Given the description of an element on the screen output the (x, y) to click on. 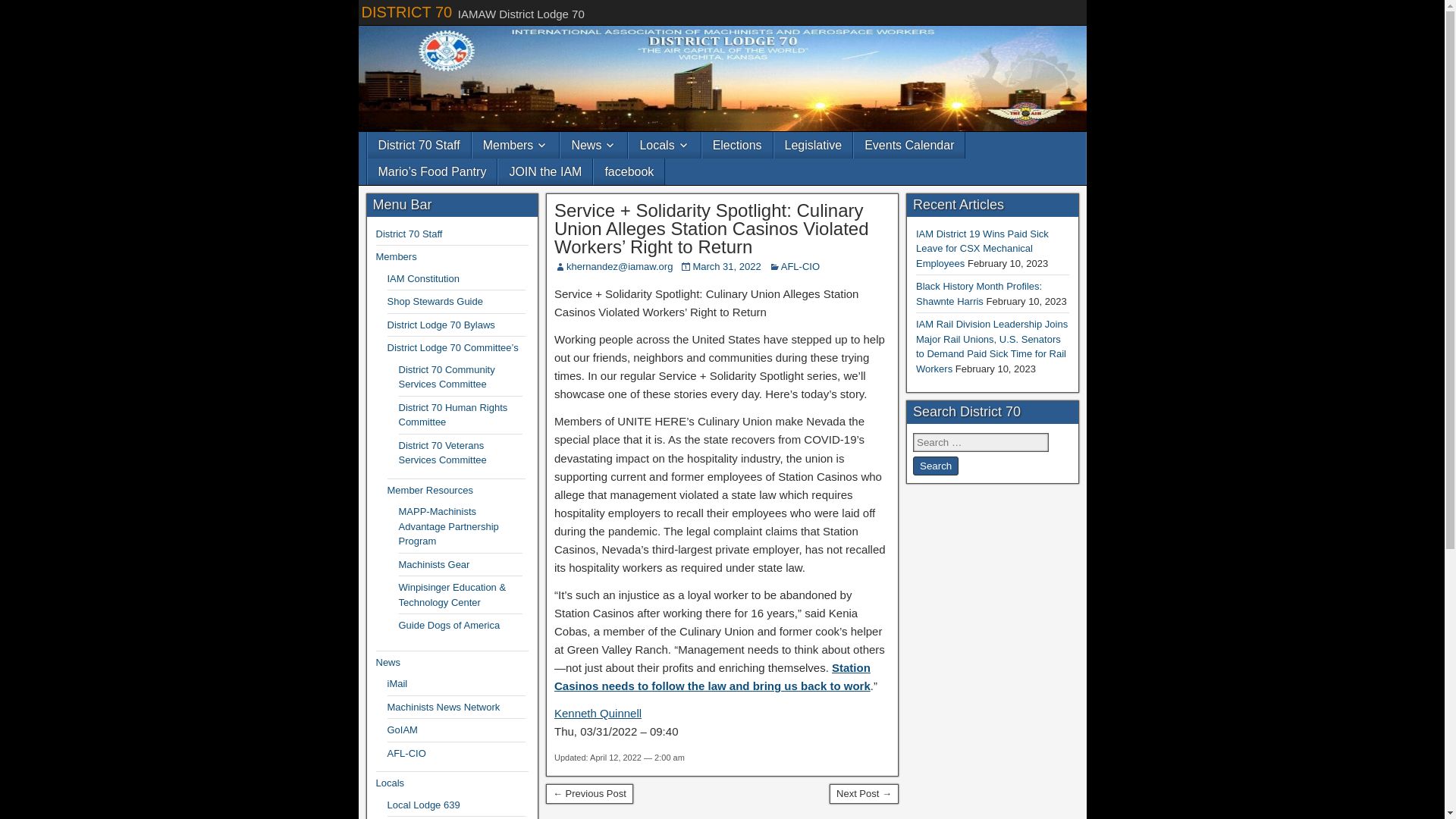
JOIN the IAM (544, 171)
Kenneth Quinnell (598, 712)
Events Calendar (908, 144)
IAM Women in Leadership: Tania Canniff (863, 793)
AFL-CIO (799, 266)
March 31, 2022 (726, 266)
Members (515, 144)
Locals (664, 144)
Search (935, 465)
View user profile. (598, 712)
Elections (737, 144)
Search (935, 465)
News (593, 144)
DISTRICT 70 (406, 12)
